Given the description of an element on the screen output the (x, y) to click on. 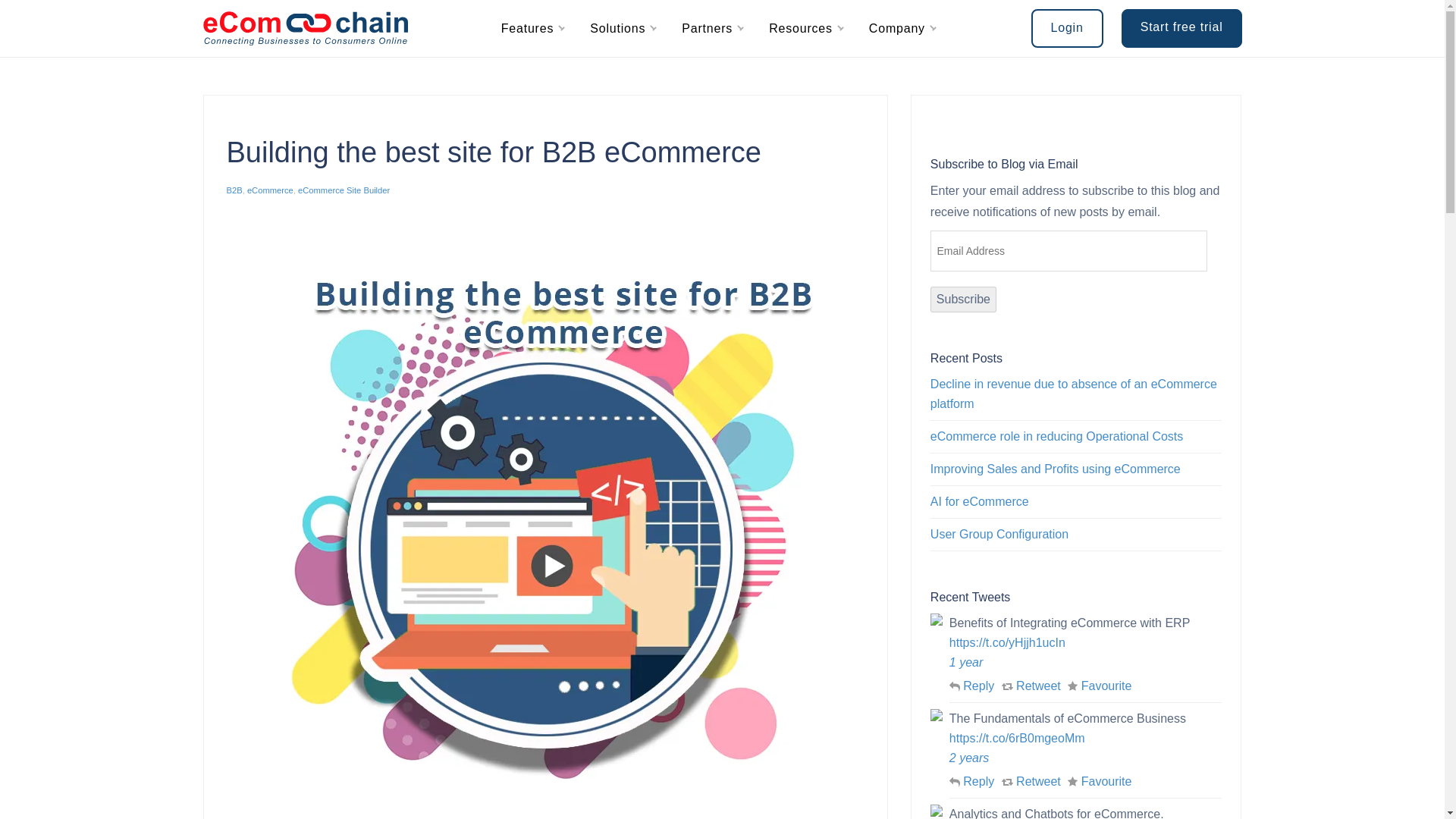
Reply (971, 685)
Reply (971, 780)
Favourite (1099, 780)
Features (527, 28)
Company (896, 28)
Retweet (1031, 780)
eComchain (305, 28)
Favourite (1099, 685)
Resources (800, 28)
Solutions (617, 28)
